Given the description of an element on the screen output the (x, y) to click on. 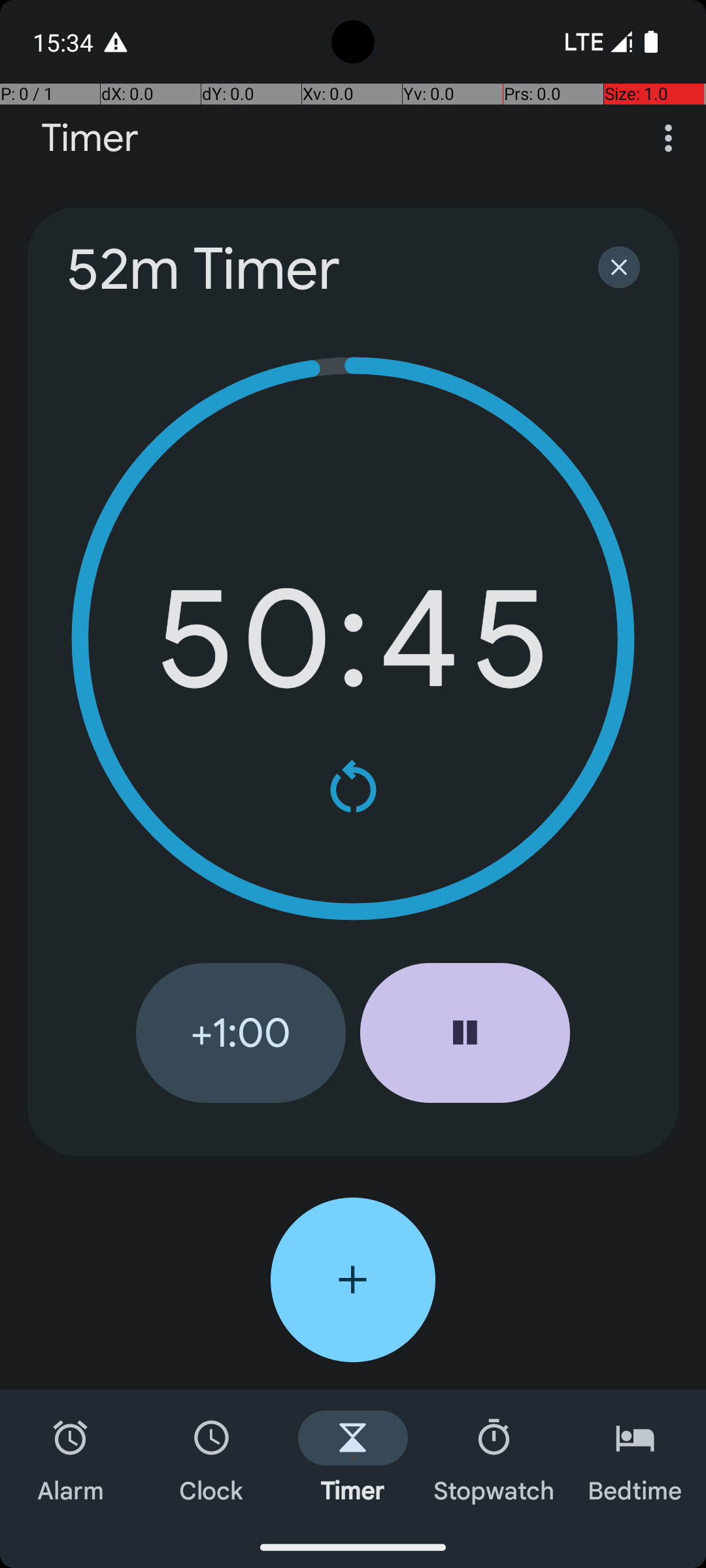
Add timer Element type: android.widget.Button (352, 1279)
52m Timer Element type: android.widget.TextView (315, 269)
50:49 Element type: android.widget.TextView (352, 638)
+1:00 Element type: android.widget.Button (240, 1032)
Pause Element type: android.widget.Button (465, 1032)
